Given the description of an element on the screen output the (x, y) to click on. 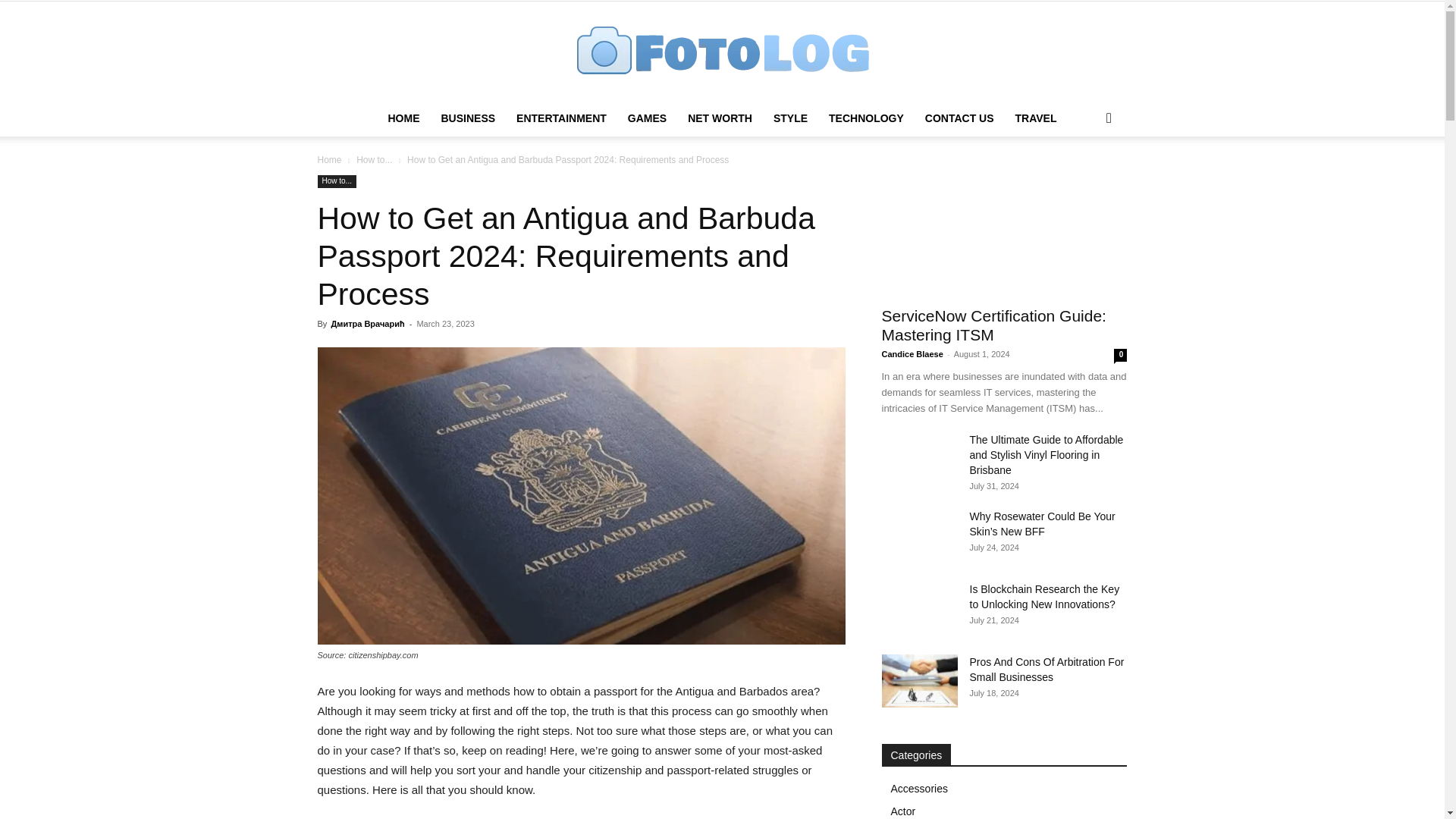
CONTACT US (959, 117)
View all posts in How to... (373, 159)
TECHNOLOGY (866, 117)
STYLE (790, 117)
How to... (336, 181)
Search (1085, 178)
NET WORTH (719, 117)
HOME (403, 117)
How to... (373, 159)
GAMES (647, 117)
Home (328, 159)
ENTERTAINMENT (561, 117)
BUSINESS (467, 117)
TRAVEL (1035, 117)
